Given the description of an element on the screen output the (x, y) to click on. 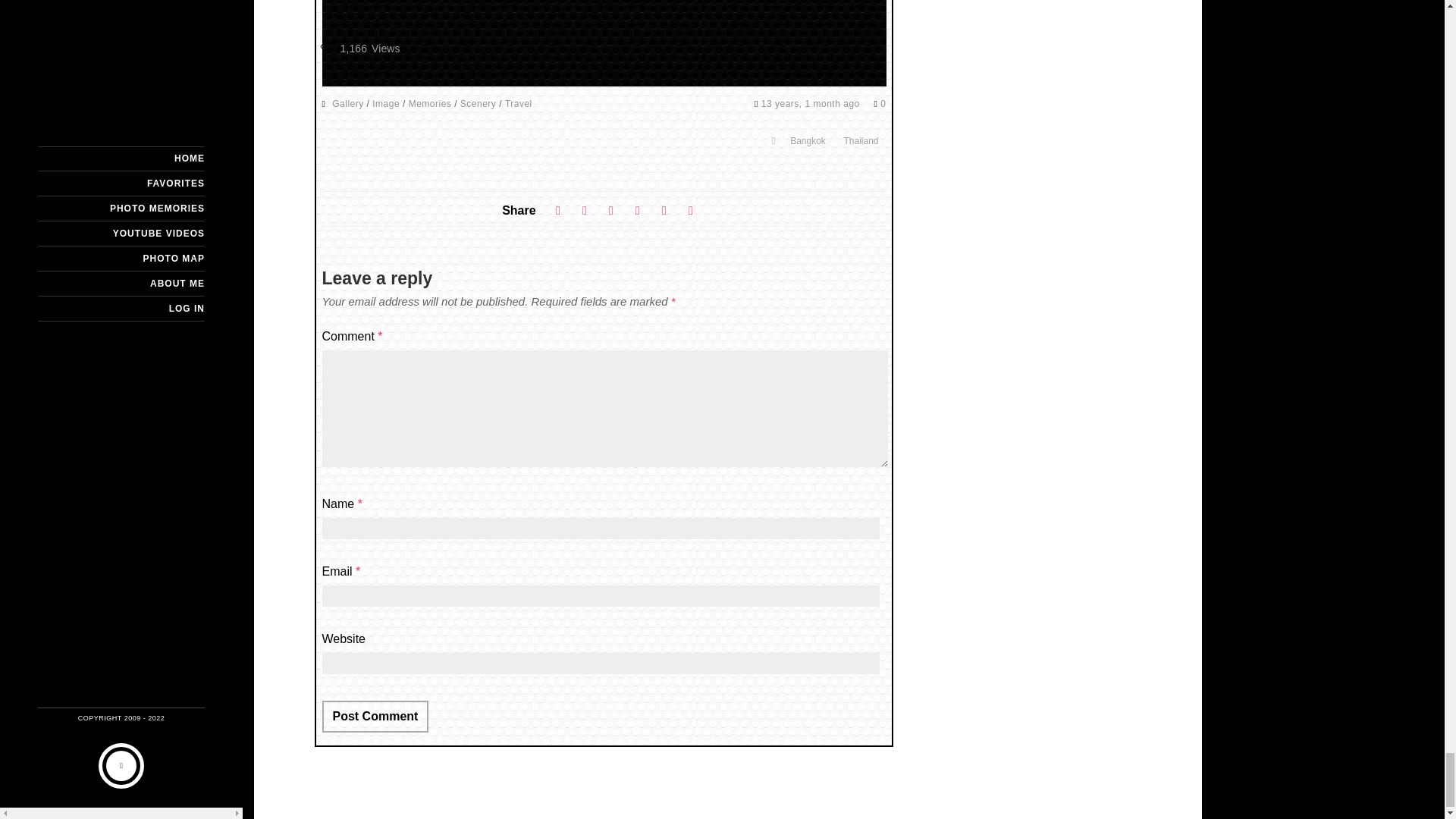
13 years, 1 month ago (812, 103)
Travel (518, 103)
Post Comment (374, 716)
Image (385, 103)
Thailand (860, 140)
Memories (430, 103)
Gallery (347, 103)
Post Comment (374, 716)
Bangkok (807, 140)
Scenery (478, 103)
